Given the description of an element on the screen output the (x, y) to click on. 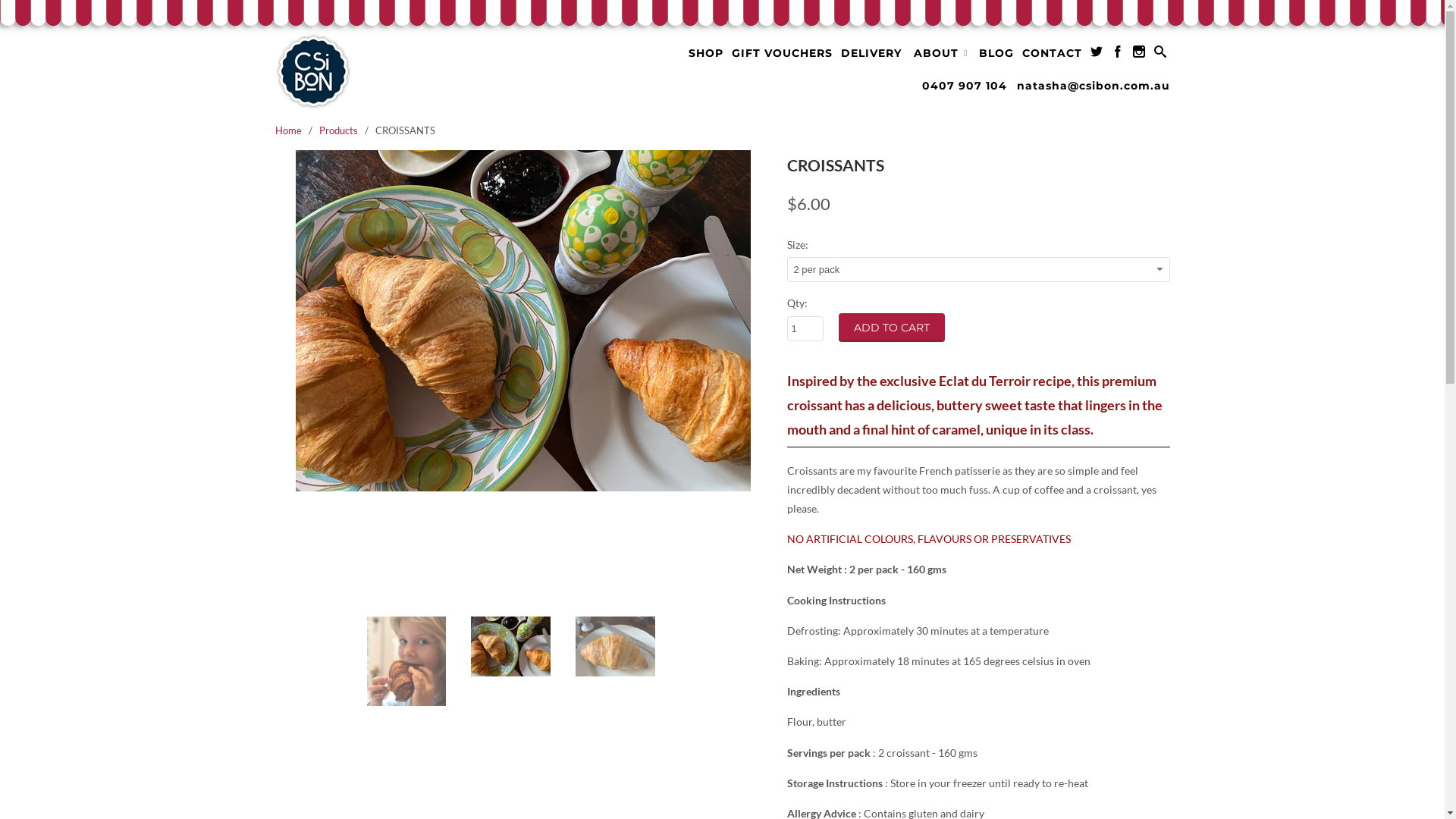
CONTACT Element type: text (1052, 55)
SHOP Element type: text (705, 55)
Search Element type: hover (1160, 54)
GIFT VOUCHERS Element type: text (781, 55)
0407 907 104 Element type: text (964, 88)
natasha@csibon.com.au Element type: text (1092, 88)
BLOG Element type: text (995, 55)
Home Element type: text (287, 130)
C Si Bon on Twitter Element type: hover (1096, 54)
C Si Bon on Facebook Element type: hover (1117, 54)
Add to Cart Element type: text (891, 327)
C Si Bon on Instagram Element type: hover (1138, 54)
CROISSANTS Element type: hover (522, 320)
DELIVERY Element type: text (870, 55)
C Si Bon Element type: hover (380, 71)
Products Element type: text (337, 130)
